Given the description of an element on the screen output the (x, y) to click on. 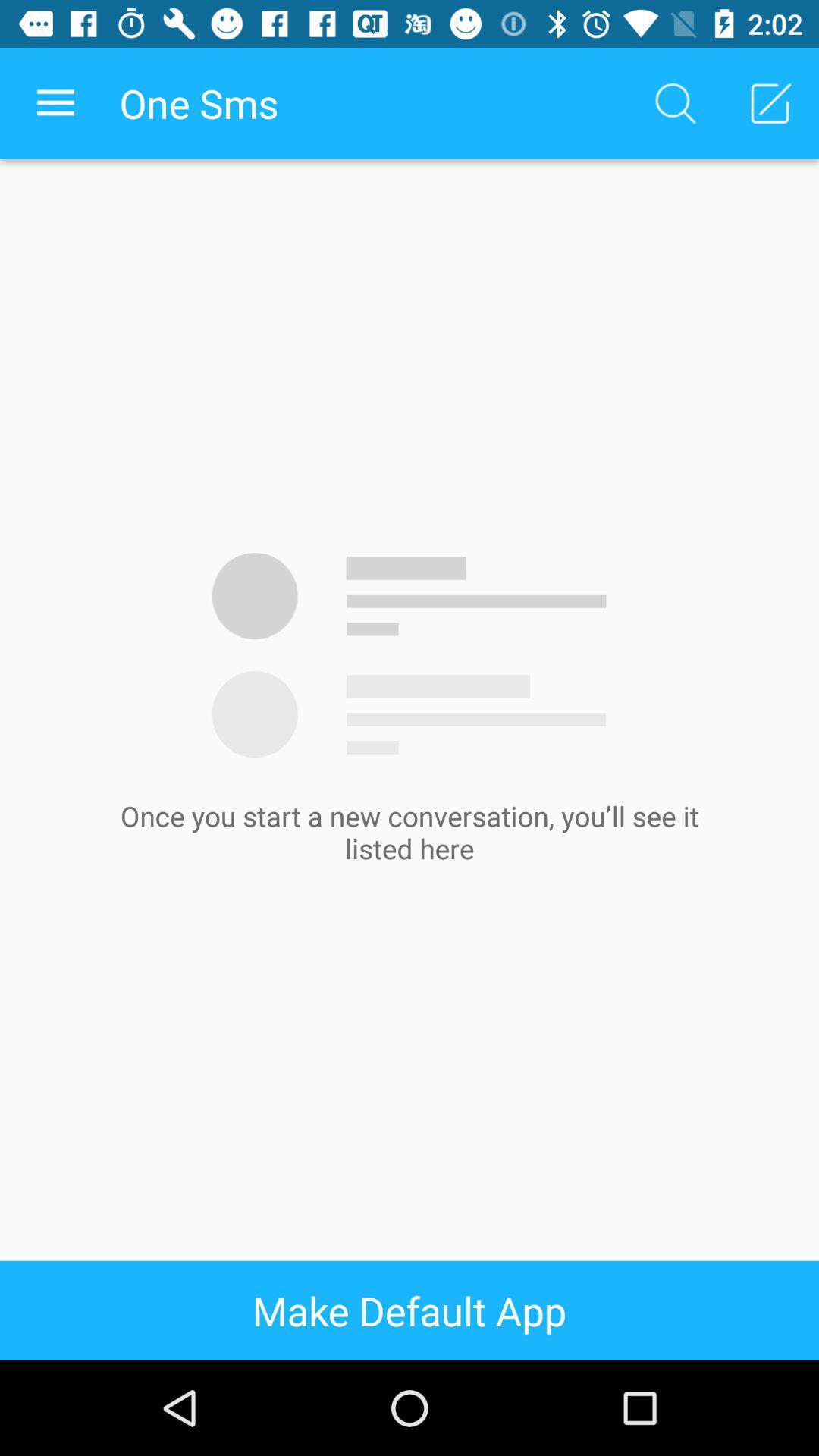
choose make default app (409, 1310)
